Given the description of an element on the screen output the (x, y) to click on. 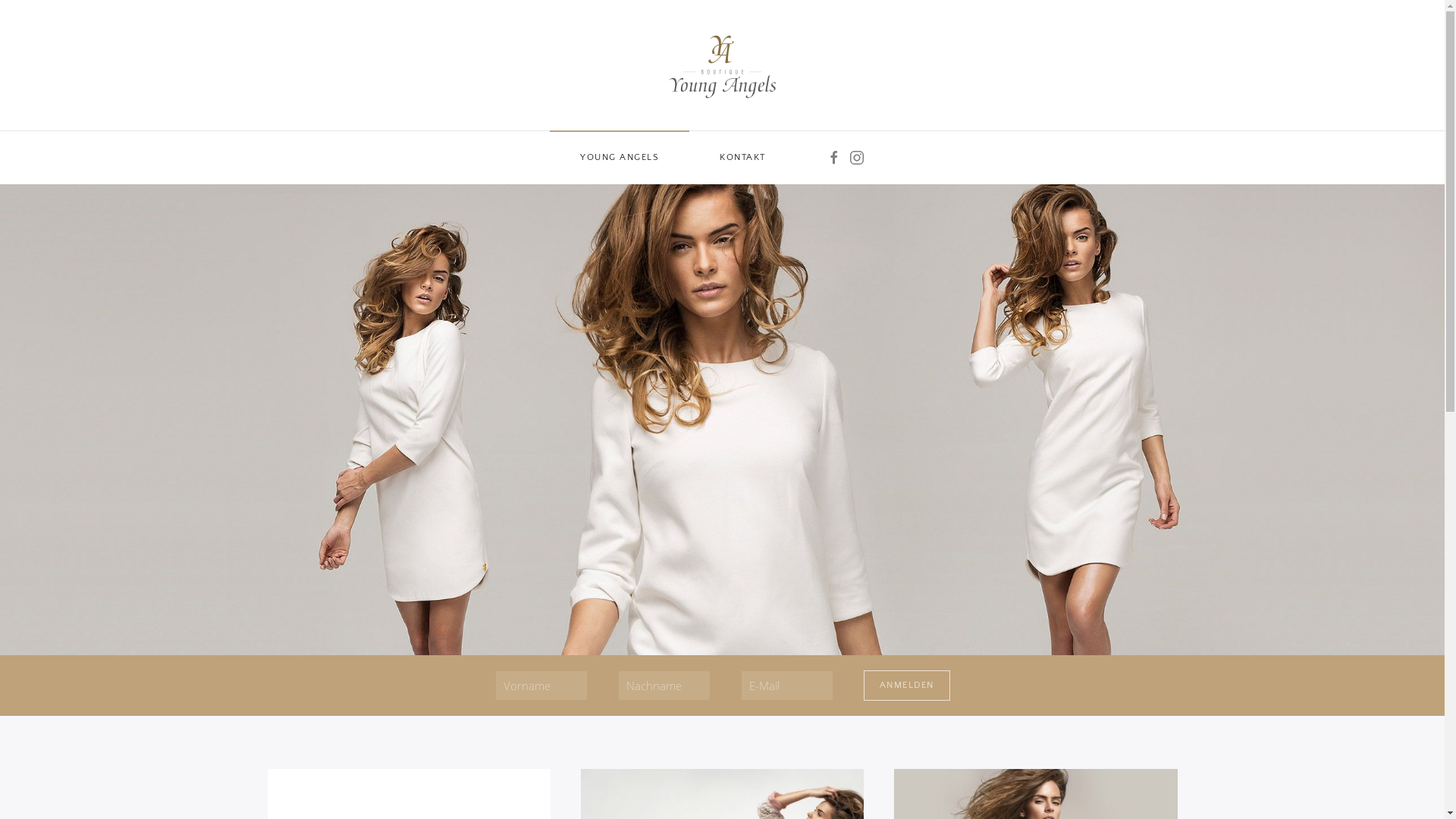
YOUNG ANGELS Element type: text (619, 157)
KONTAKT Element type: text (742, 157)
ANMELDEN Element type: text (905, 685)
